Given the description of an element on the screen output the (x, y) to click on. 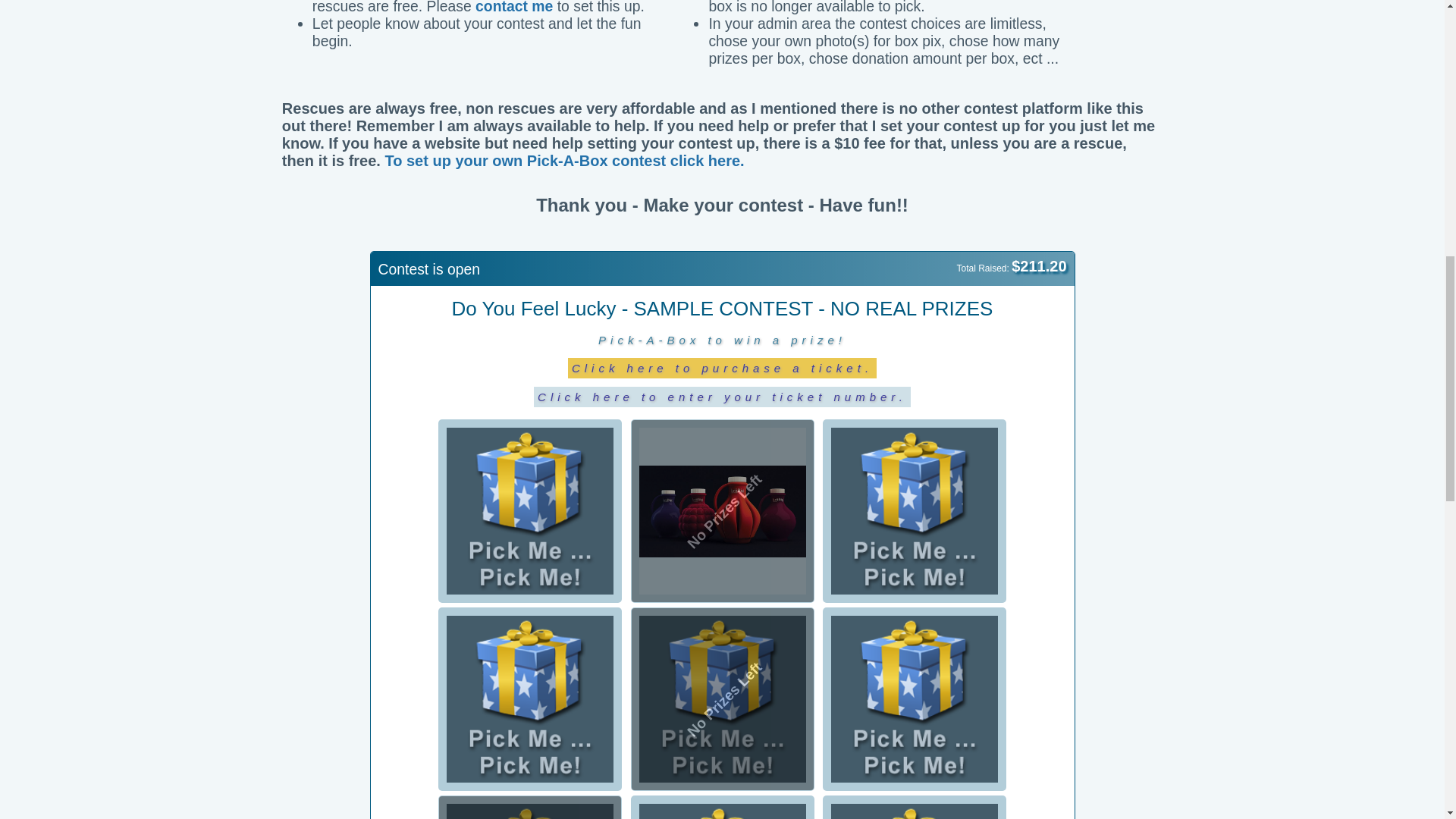
Click here to purchase a ticket. (721, 367)
Click here to enter your ticket number. (722, 396)
contact me (514, 7)
To set up your own Pick-A-Box contest click here. (564, 160)
